Given the description of an element on the screen output the (x, y) to click on. 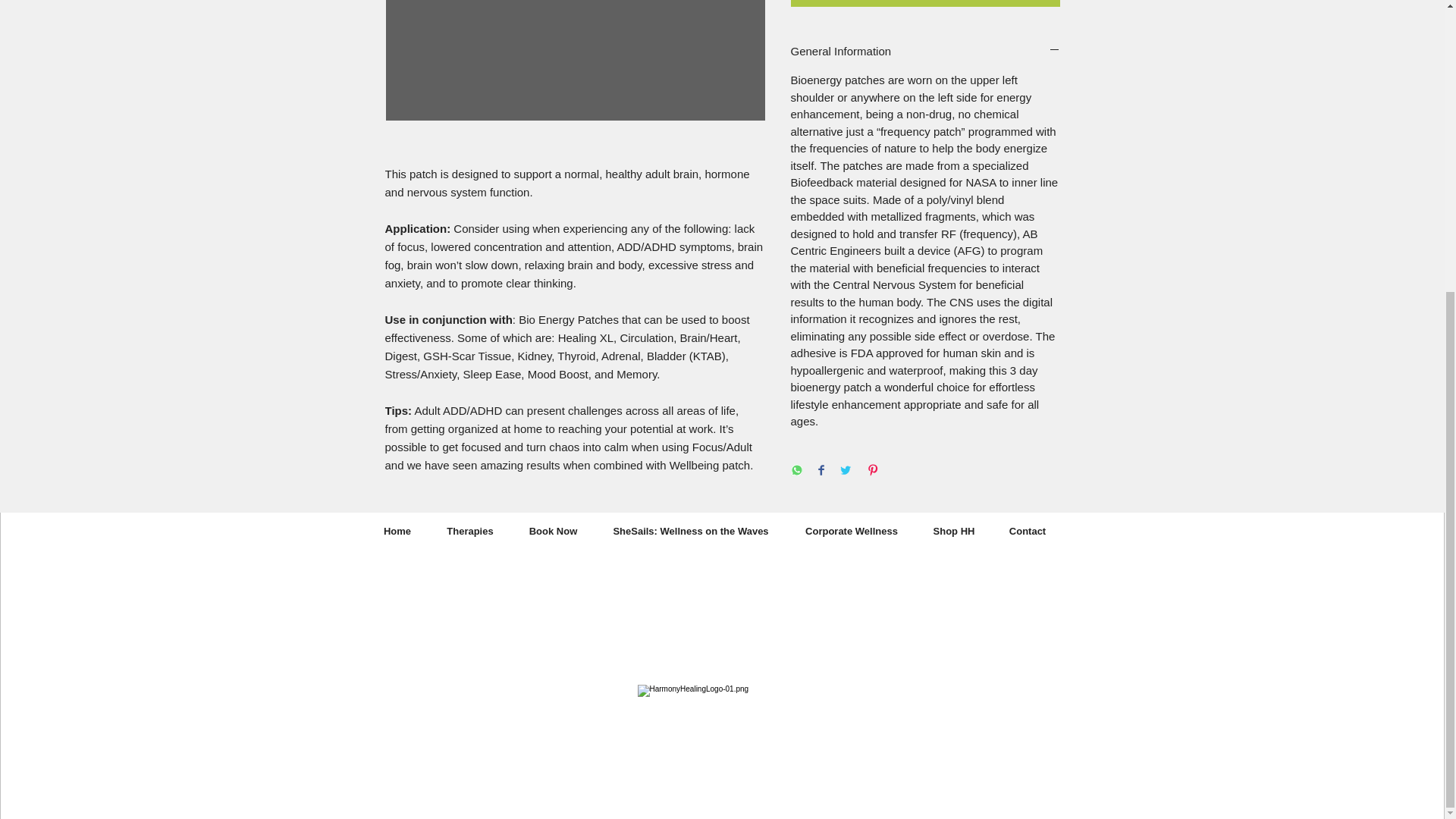
SheSails: Wellness on the Waves (690, 531)
General Information (924, 50)
Book Now (552, 531)
Shop HH (953, 531)
Home (396, 531)
Therapies (470, 531)
harmony healing (710, 577)
Contact (1027, 531)
Corporate Wellness (852, 531)
Add to Cart (924, 3)
